Given the description of an element on the screen output the (x, y) to click on. 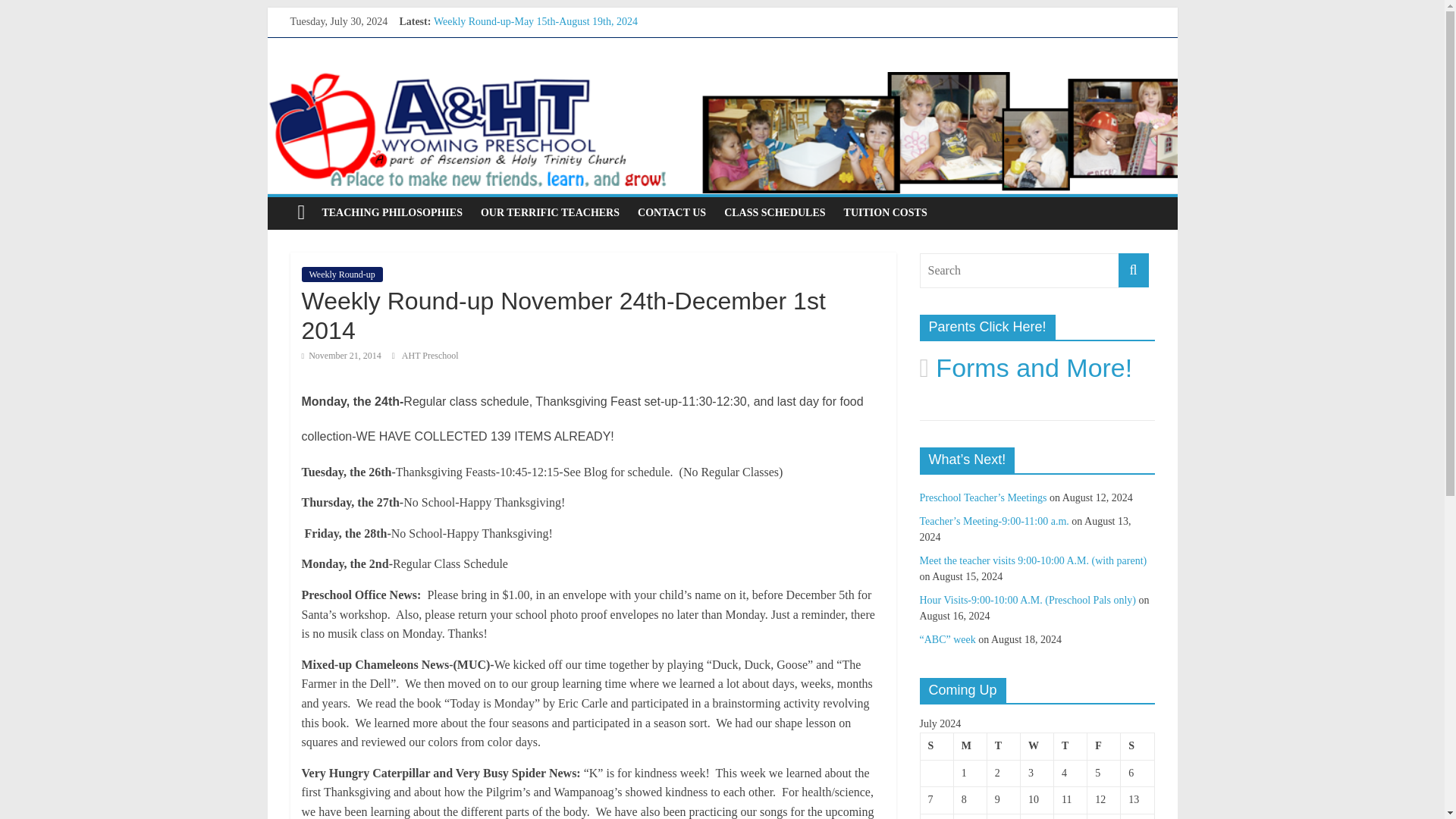
Thursday (1070, 746)
Happy 5th Birthday, Amari! (493, 71)
Happy 5th Birthday, Eleanor! (496, 89)
Monday (970, 746)
AHT Preschool (429, 355)
Happy 5th Birthday, Amari! (493, 71)
TEACHING PHILOSOPHIES (392, 213)
TUITION COSTS (885, 213)
Weekly Round-up (341, 273)
AHT Preschool (429, 355)
Saturday (1137, 746)
Weekly Round-up-May 15th-August 19th, 2024 (535, 21)
OUR TERRIFIC TEACHERS (549, 213)
Tuesday (1003, 746)
Happy 5th Birthday, Eleanor! (496, 89)
